Given the description of an element on the screen output the (x, y) to click on. 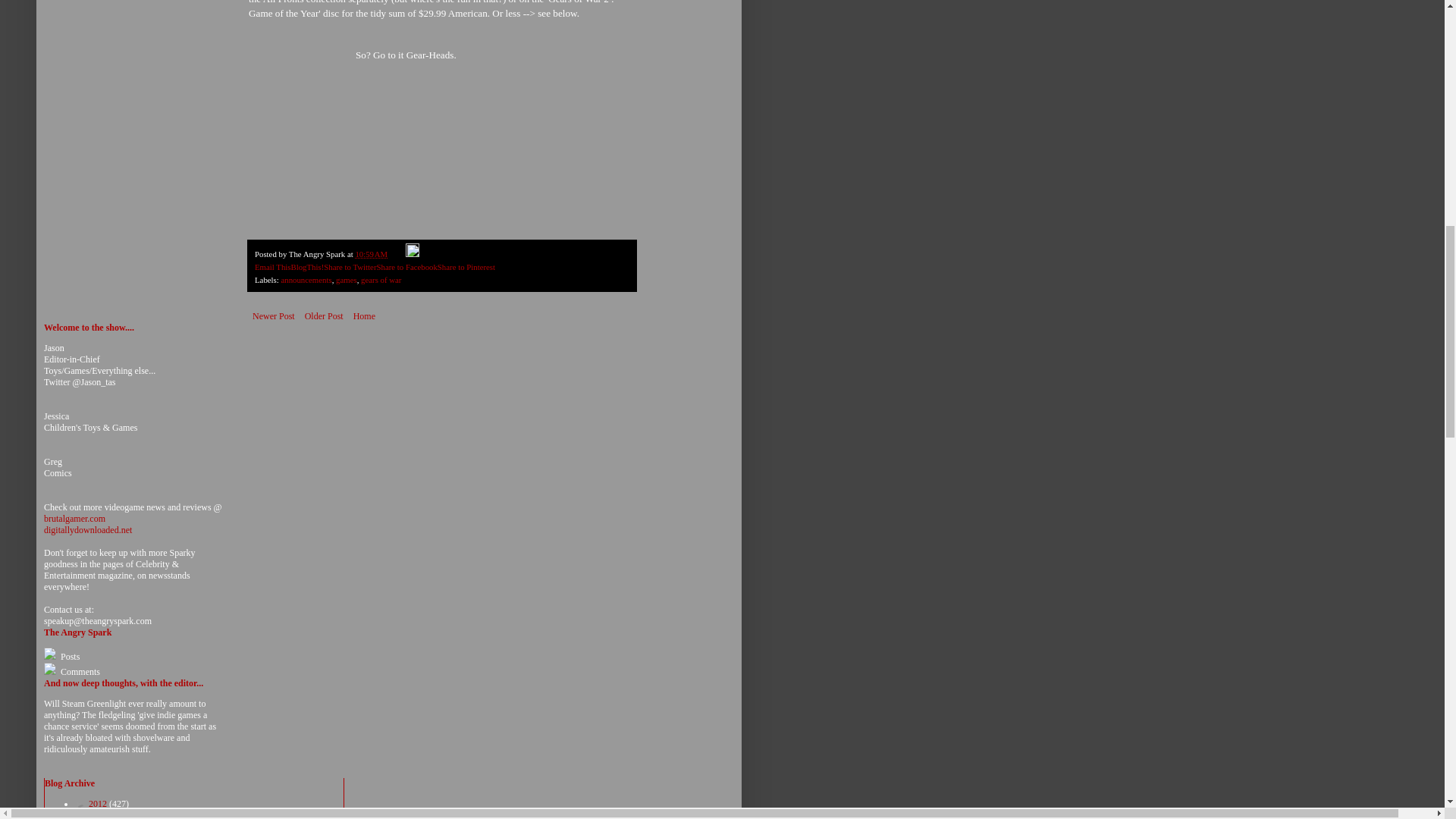
BlogThis! (306, 266)
Home (363, 316)
Share to Facebook (405, 266)
Newer Post (273, 316)
gears of war (381, 279)
Email Post (398, 253)
Share to Facebook (405, 266)
Share to Twitter (349, 266)
Email This (271, 266)
Share to Pinterest (466, 266)
brutalgamer.com (73, 518)
Email This (271, 266)
Older Post (324, 316)
Older Post (324, 316)
Share to Twitter (349, 266)
